Given the description of an element on the screen output the (x, y) to click on. 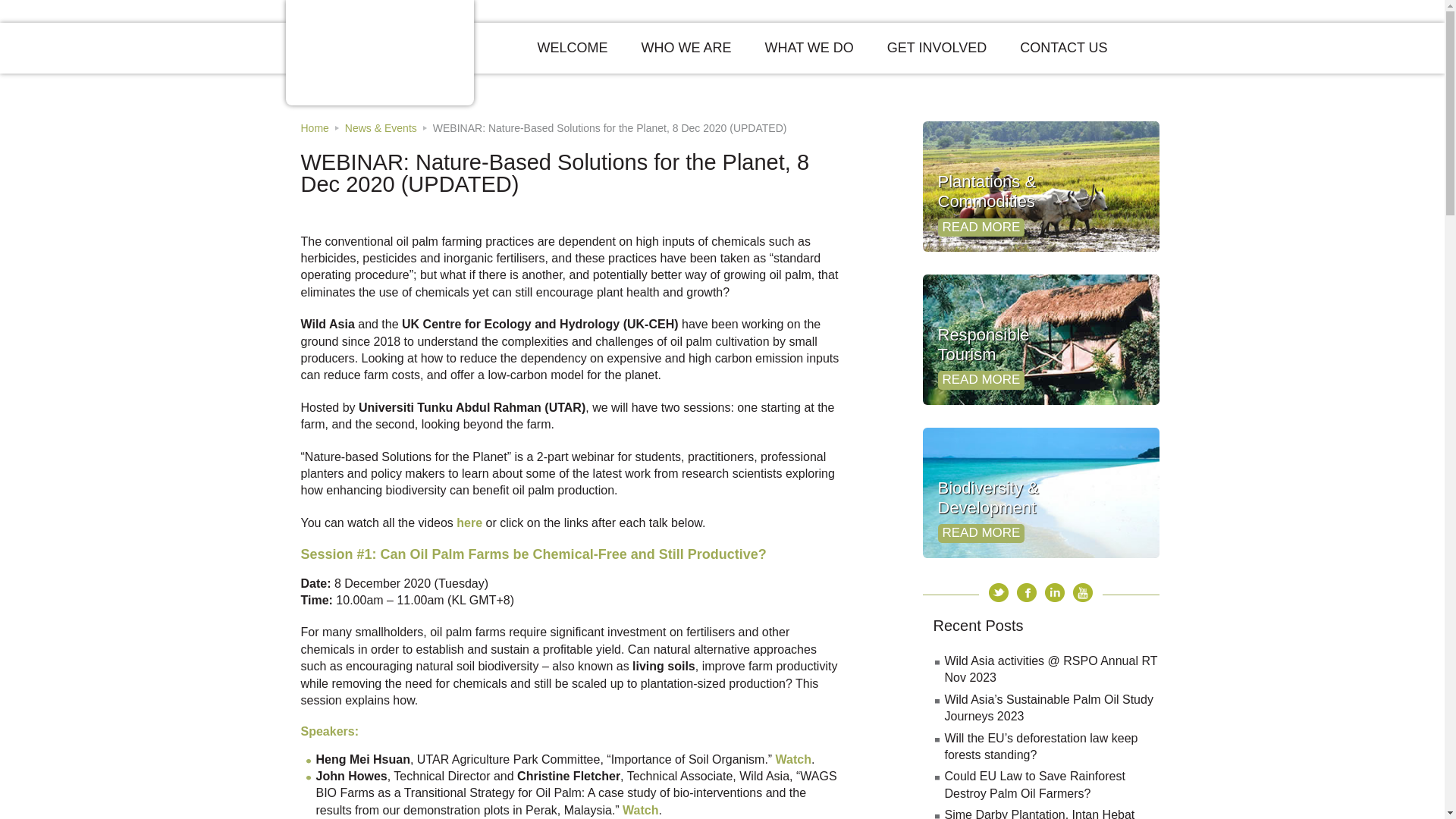
WHO WE ARE (686, 47)
GET INVOLVED (936, 47)
Home (314, 128)
here (469, 522)
Watch (793, 758)
WELCOME (571, 47)
CONTACT US (1063, 47)
Wild Asia (378, 50)
Watch (640, 809)
WHAT WE DO (809, 47)
